Given the description of an element on the screen output the (x, y) to click on. 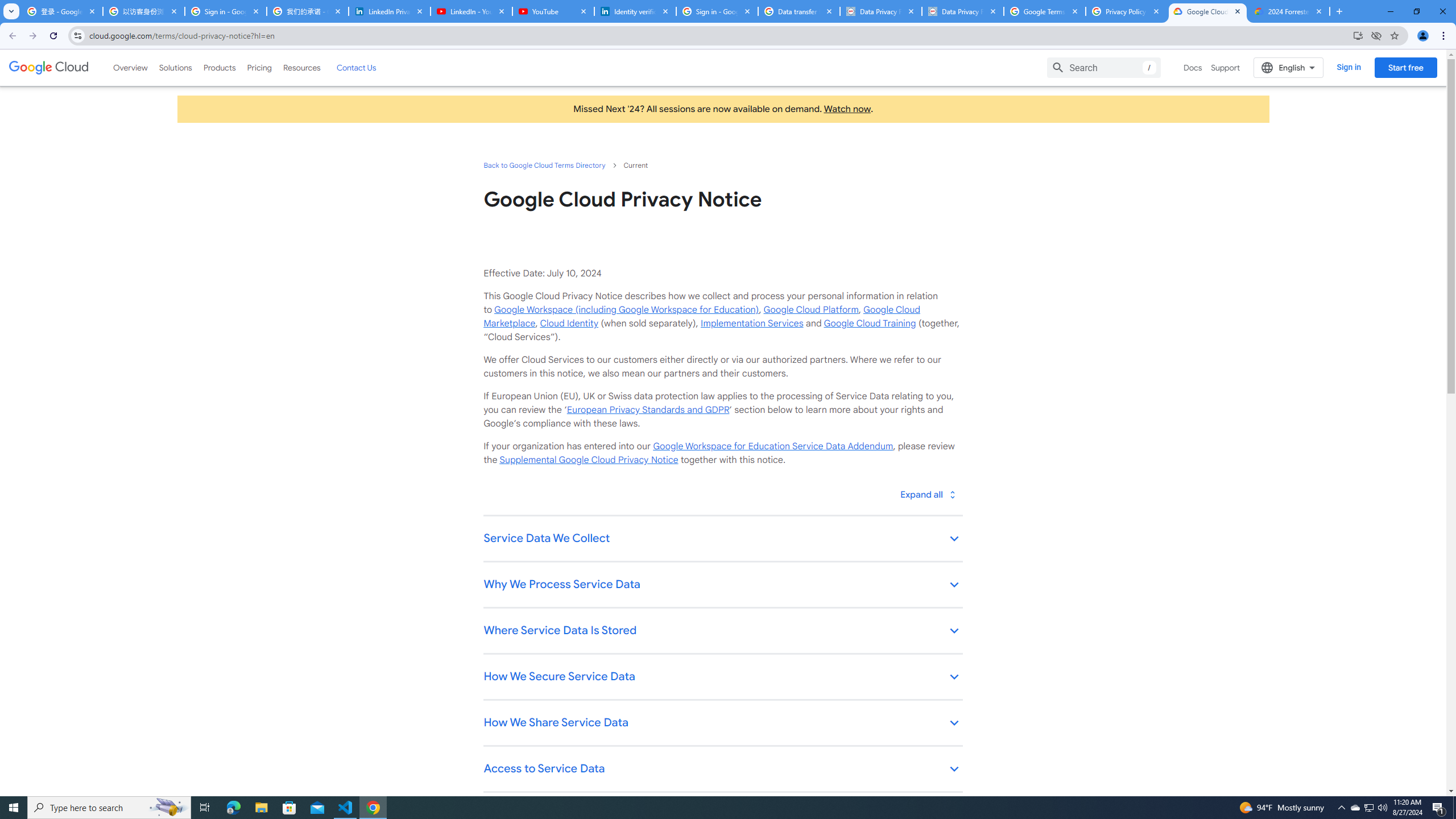
View site information (77, 35)
Cloud Identity (569, 323)
Third-party cookies blocked (1376, 35)
Sign in (1348, 67)
Google Cloud (48, 67)
Sign in - Google Accounts (716, 11)
Install Google Cloud (1358, 35)
Identity verification via Persona | LinkedIn Help (635, 11)
Google Cloud Training (869, 323)
